Given the description of an element on the screen output the (x, y) to click on. 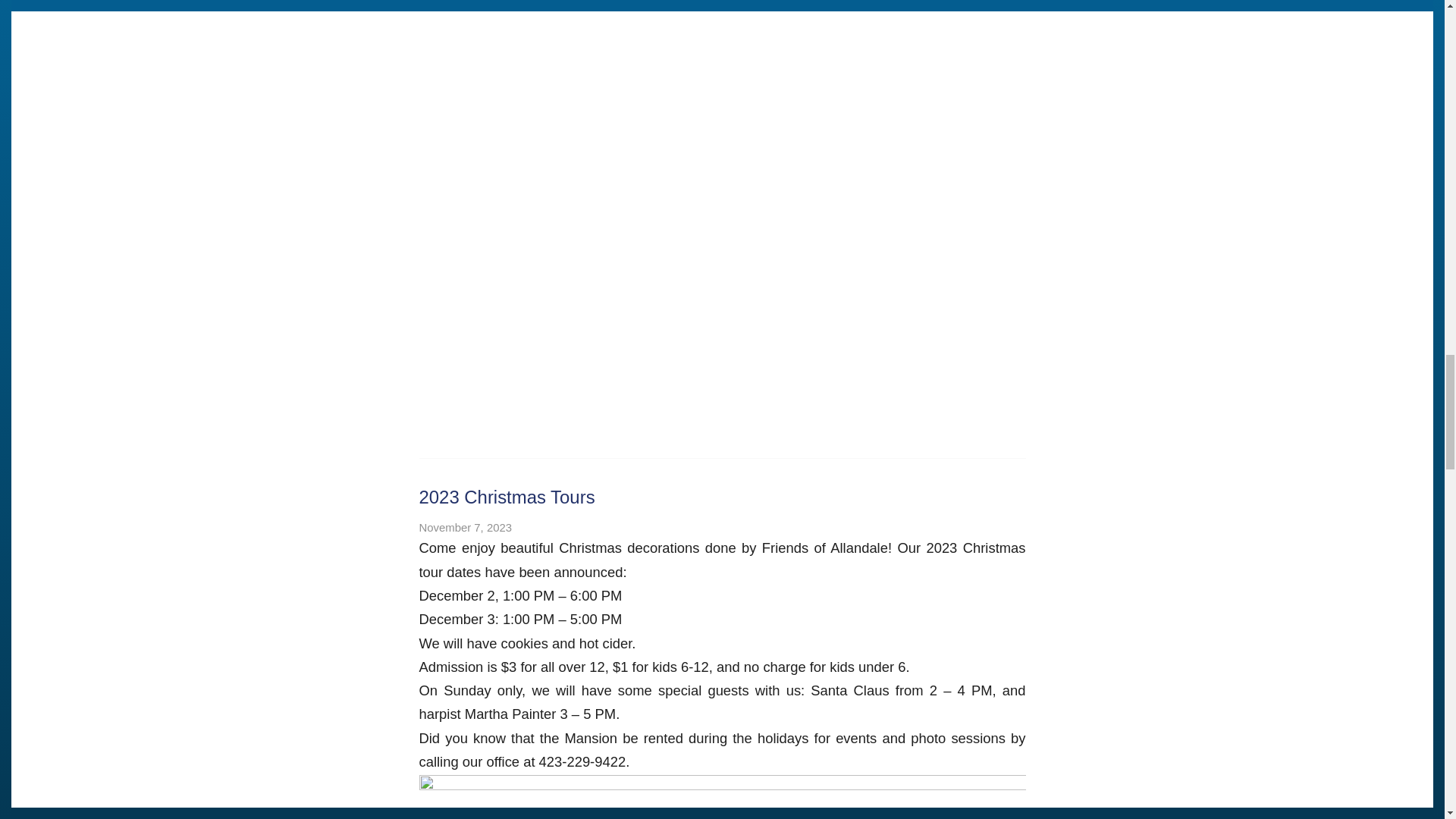
Permanent Link: 2023 Christmas Tours (506, 496)
2023 Christmas Tours (506, 496)
